Given the description of an element on the screen output the (x, y) to click on. 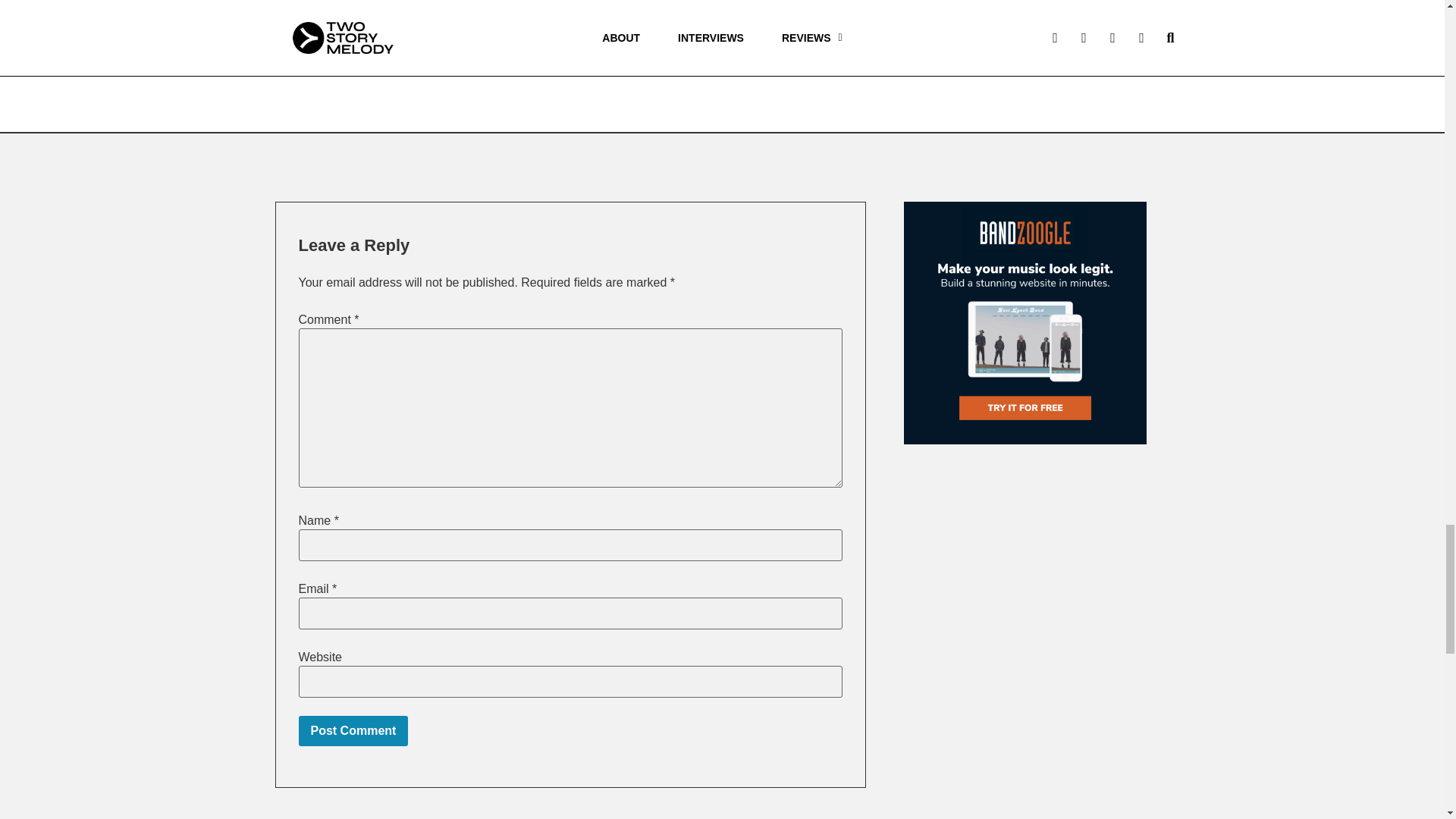
Post Comment (353, 730)
